Given the description of an element on the screen output the (x, y) to click on. 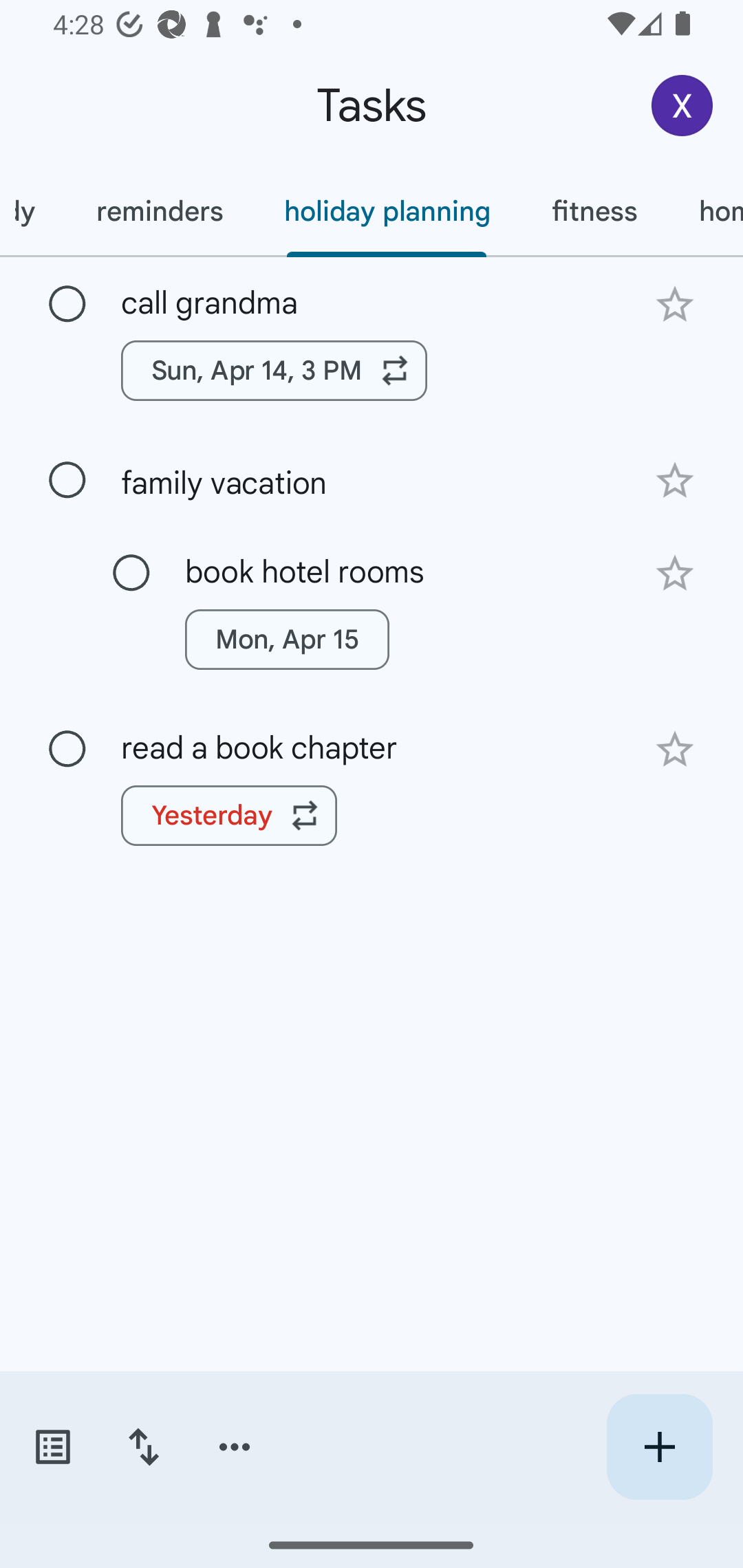
reminders (159, 211)
fitness (593, 211)
Add star (674, 303)
Mark as complete (67, 304)
Sun, Apr 14, 3 PM (274, 369)
Add star (674, 480)
Mark as complete (67, 480)
Add star (674, 573)
Mark as complete (131, 572)
Mon, Apr 15 (287, 639)
Add star (674, 749)
Mark as complete (67, 750)
Yesterday (229, 814)
Switch task lists (52, 1447)
Create new task (659, 1446)
Change sort order (143, 1446)
More options (234, 1446)
